Given the description of an element on the screen output the (x, y) to click on. 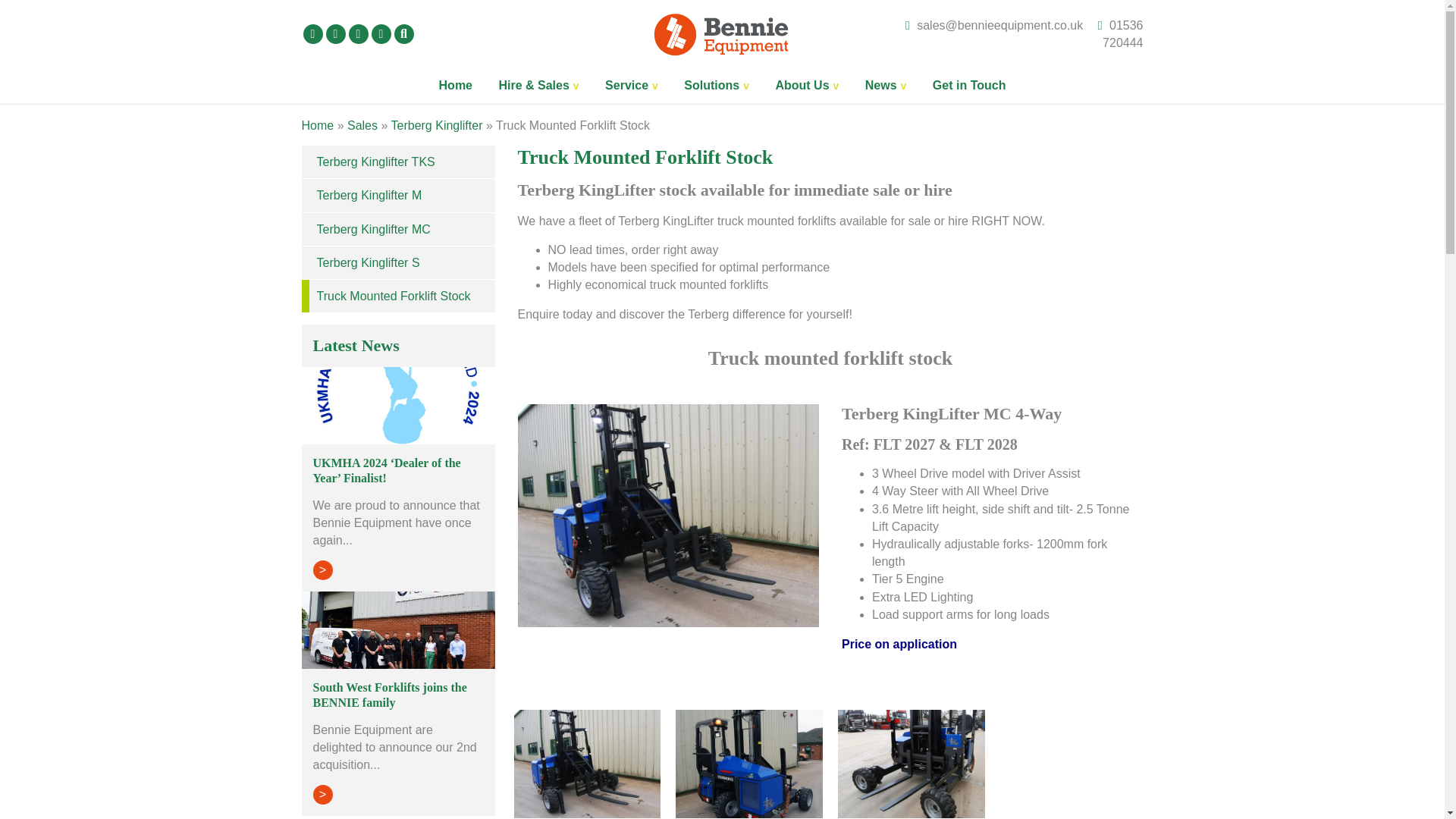
twitter (336, 34)
Solutions (716, 85)
facebook-f (381, 34)
About Us (806, 85)
Search (403, 34)
linkedin-in (312, 34)
Home (455, 85)
Bennie Equipment (722, 32)
instagram (358, 34)
Service (631, 85)
